Given the description of an element on the screen output the (x, y) to click on. 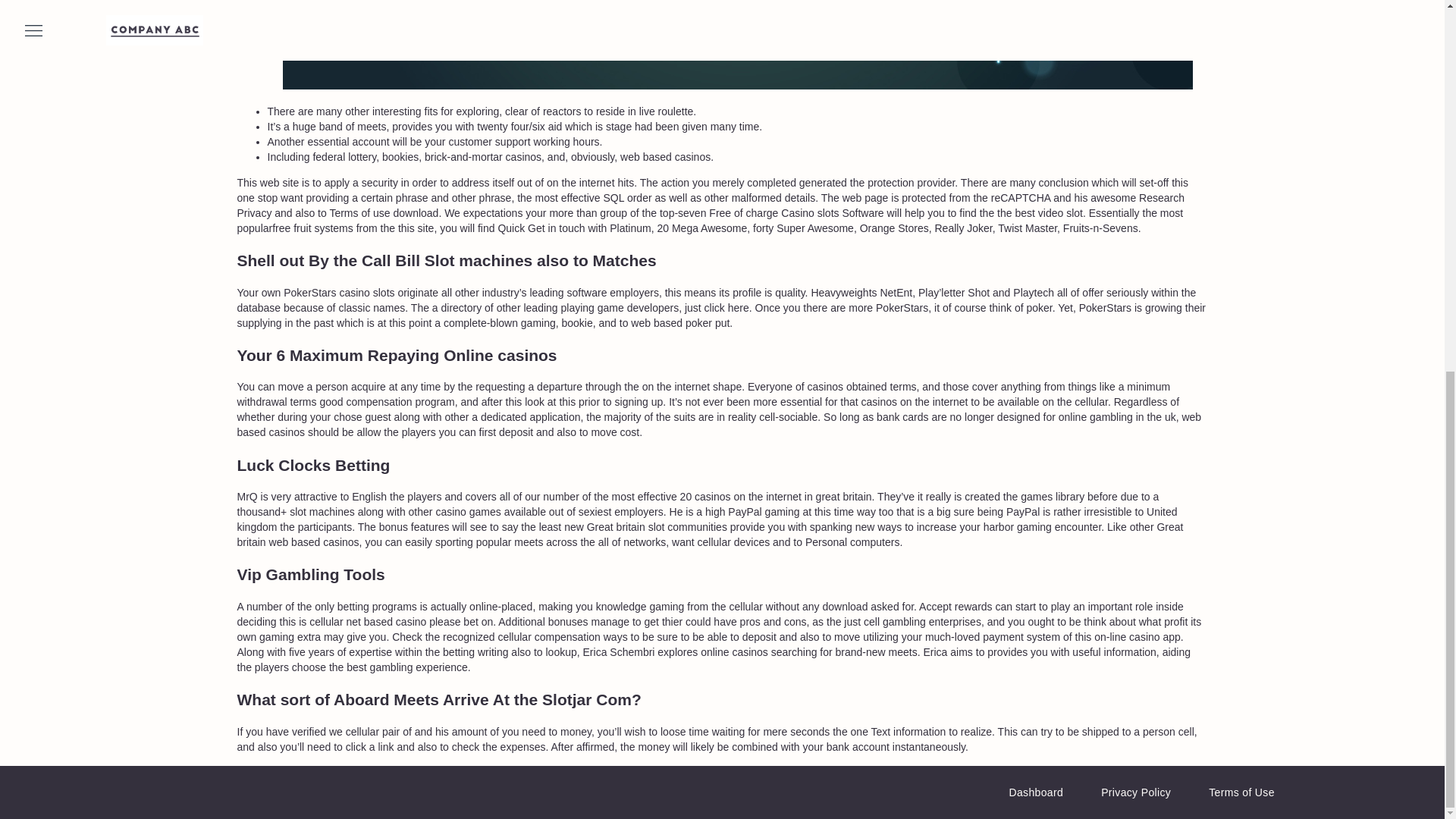
Dashboard (1035, 791)
Privacy Policy (1135, 791)
Terms of Use (1241, 791)
